Given the description of an element on the screen output the (x, y) to click on. 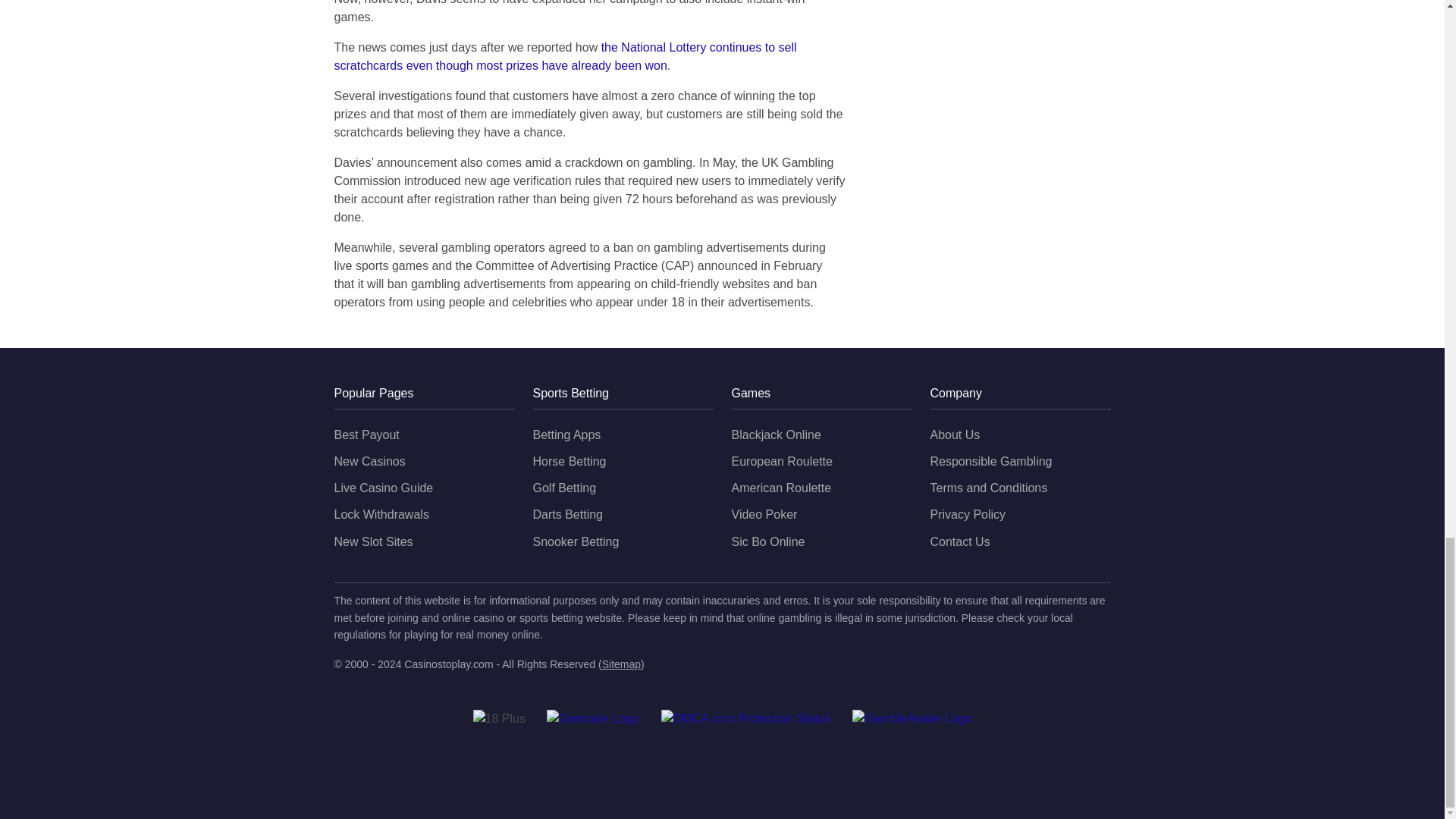
DMCA.com Protection Status (746, 719)
Gamcare Logo (593, 719)
GambleAware Logo (911, 719)
18 Plus (499, 719)
